Given the description of an element on the screen output the (x, y) to click on. 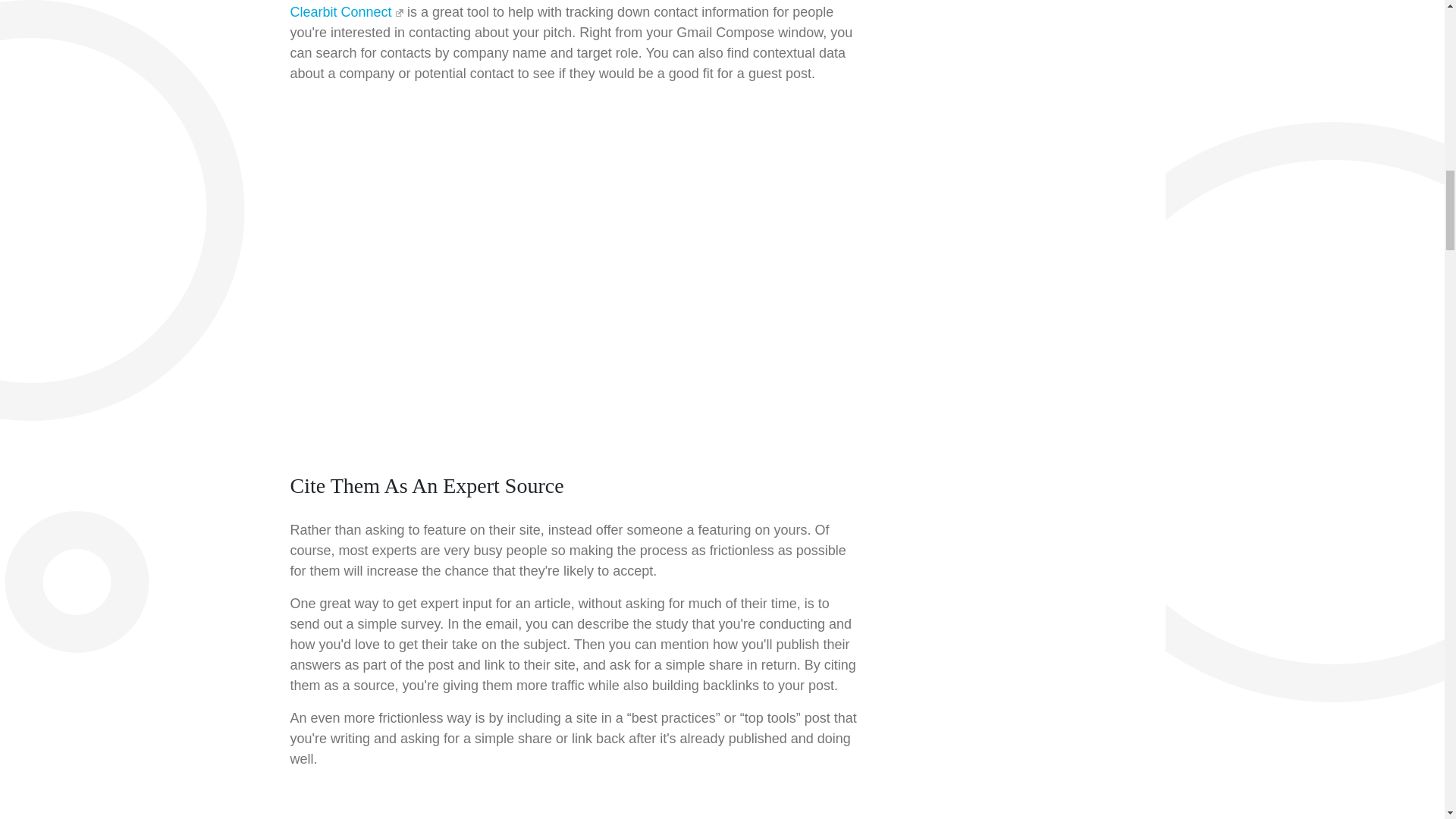
Clearbit Connect (346, 11)
